Given the description of an element on the screen output the (x, y) to click on. 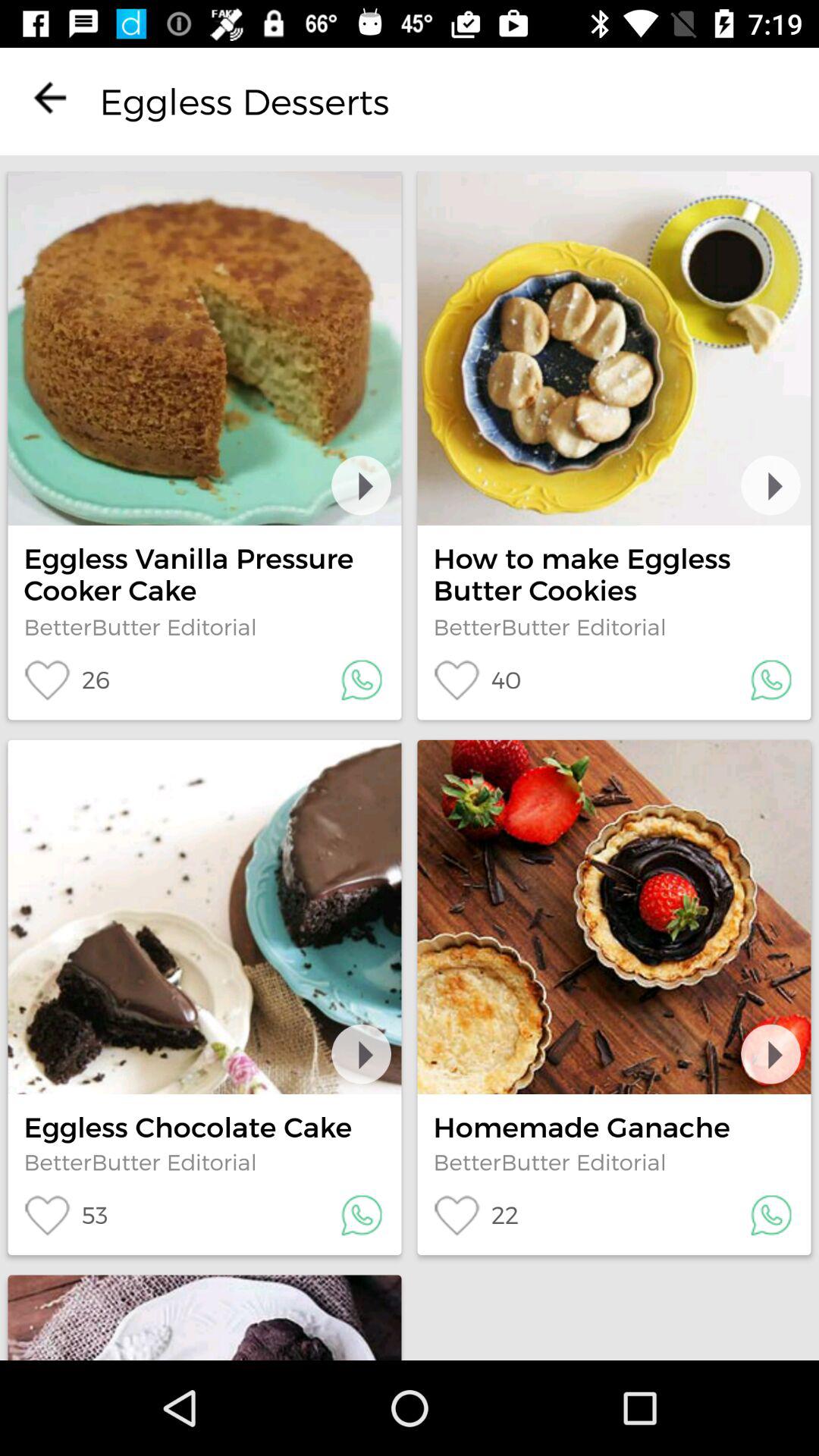
flip until the 26 item (66, 680)
